Given the description of an element on the screen output the (x, y) to click on. 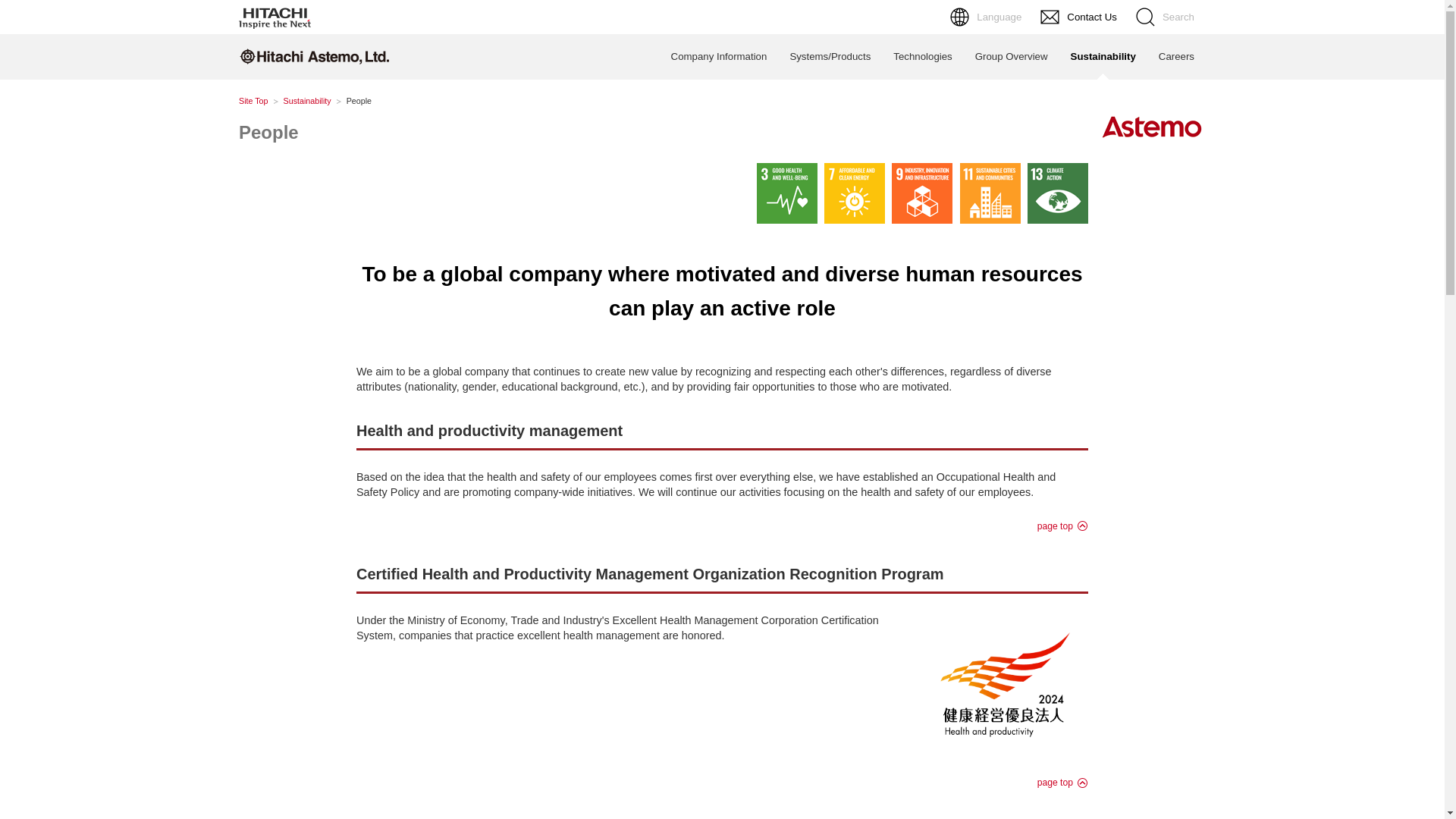
Search (1166, 17)
Language (987, 17)
Company Information (718, 56)
Contact Us (1080, 17)
